Given the description of an element on the screen output the (x, y) to click on. 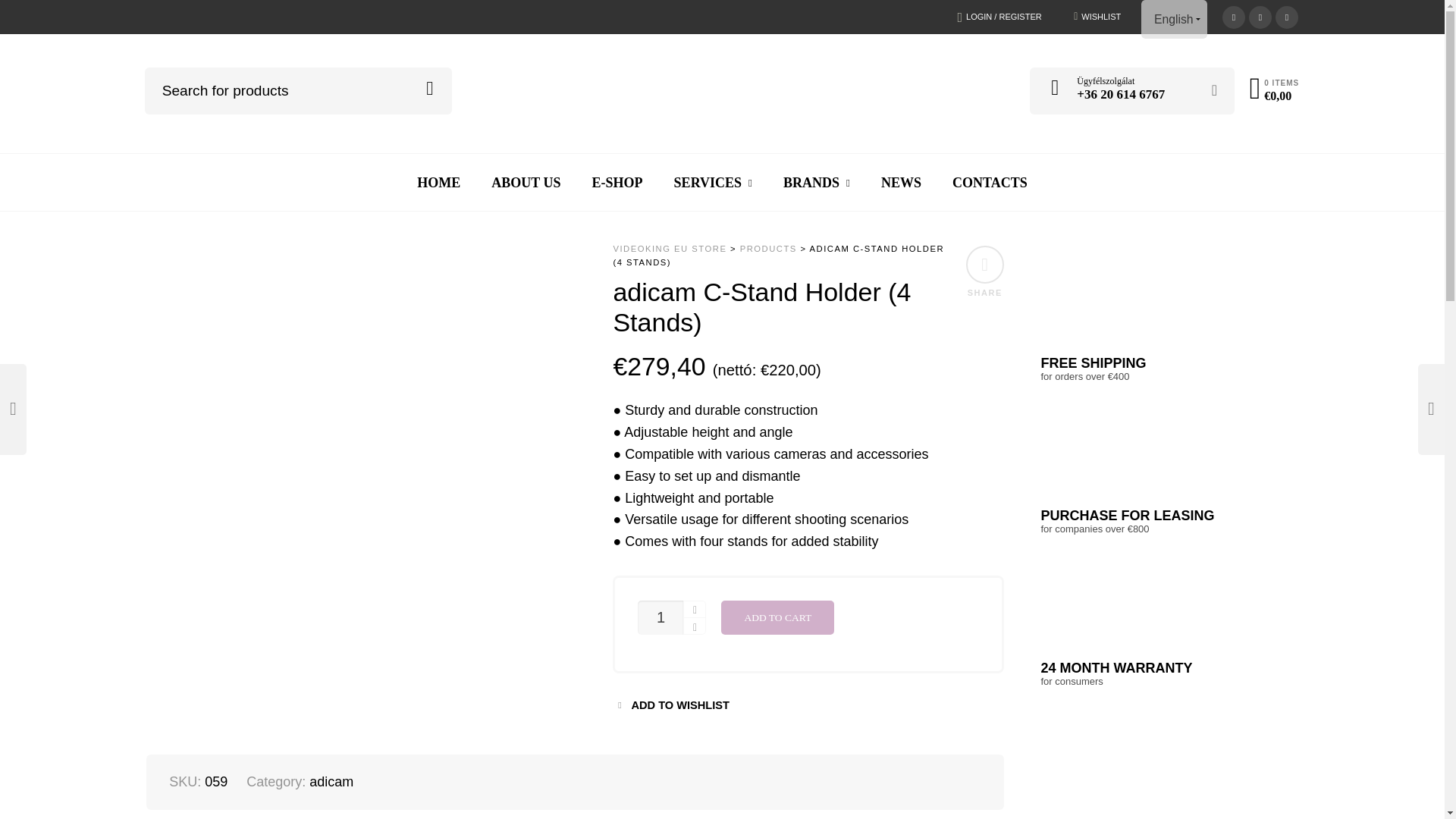
Facebook (1233, 15)
Search (429, 87)
Instagram (1286, 15)
1 (659, 617)
WISHLIST (1100, 17)
HOME (438, 182)
E-SHOP (617, 182)
SERVICES (713, 182)
059.png (176, 628)
BRANDS (816, 182)
ABOUT US (525, 182)
Qty (659, 617)
VideoKing European Store (715, 88)
Go to Products. (767, 248)
Go to VideoKing EU Store. (669, 248)
